Given the description of an element on the screen output the (x, y) to click on. 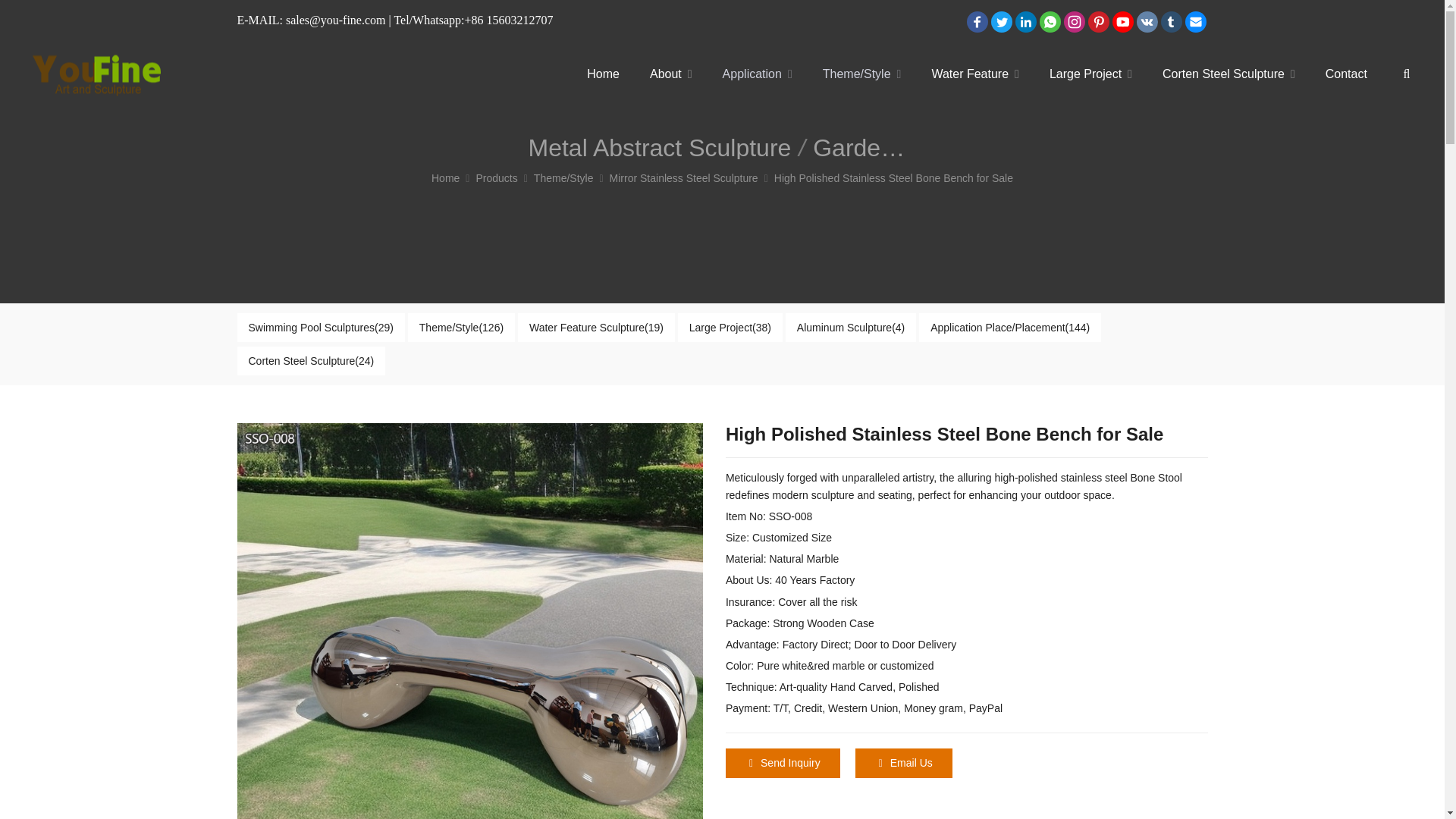
Facebook (975, 21)
Home (603, 74)
Pinterest (1097, 21)
About (670, 74)
WhatsApp (1048, 21)
LinkedIn (1024, 21)
Instagram (1073, 21)
Stainless Steel Sculpture (97, 73)
Twitter (1000, 21)
E-Mail (1194, 21)
